Given the description of an element on the screen output the (x, y) to click on. 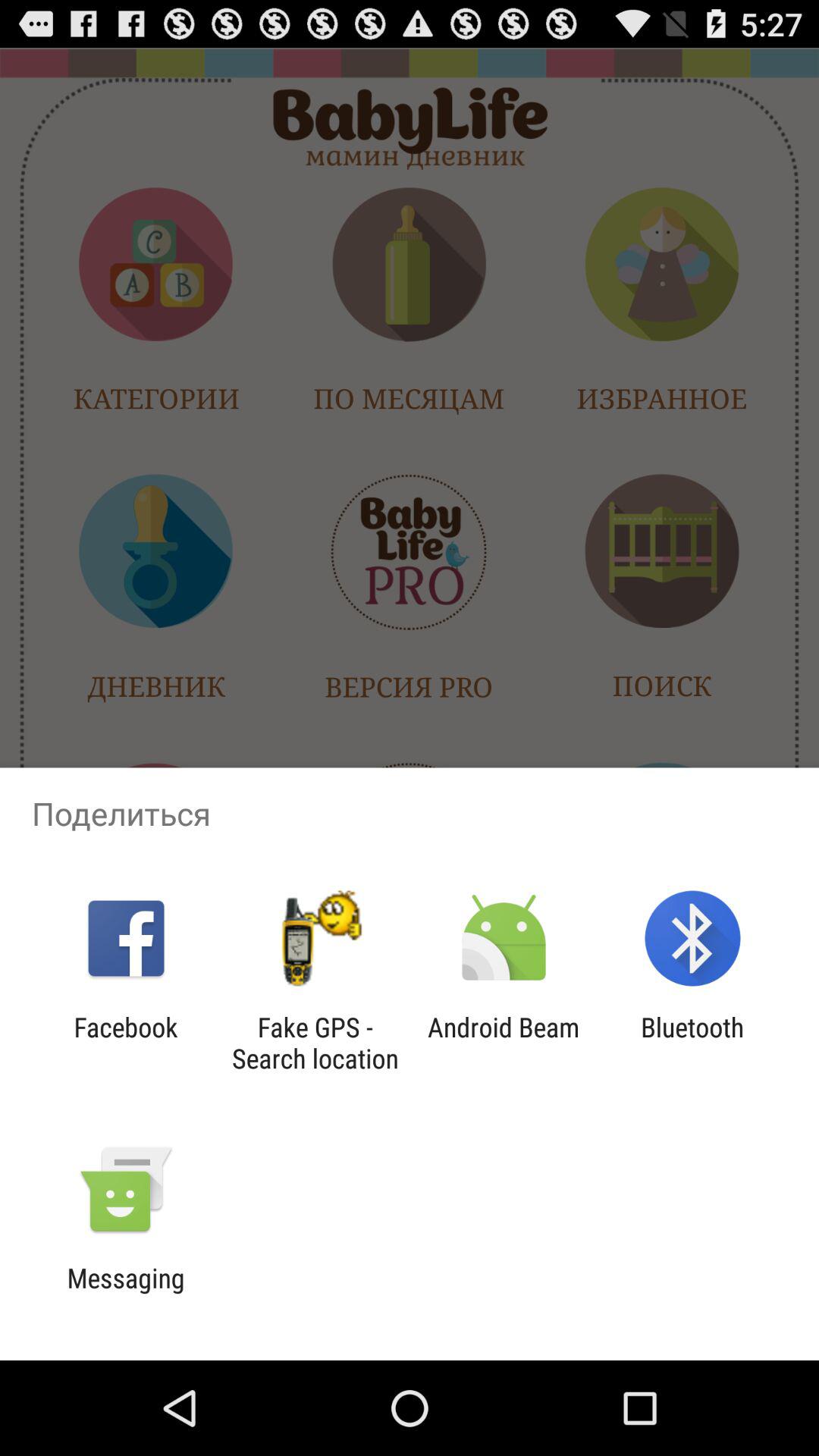
select item to the left of the fake gps search app (125, 1042)
